Given the description of an element on the screen output the (x, y) to click on. 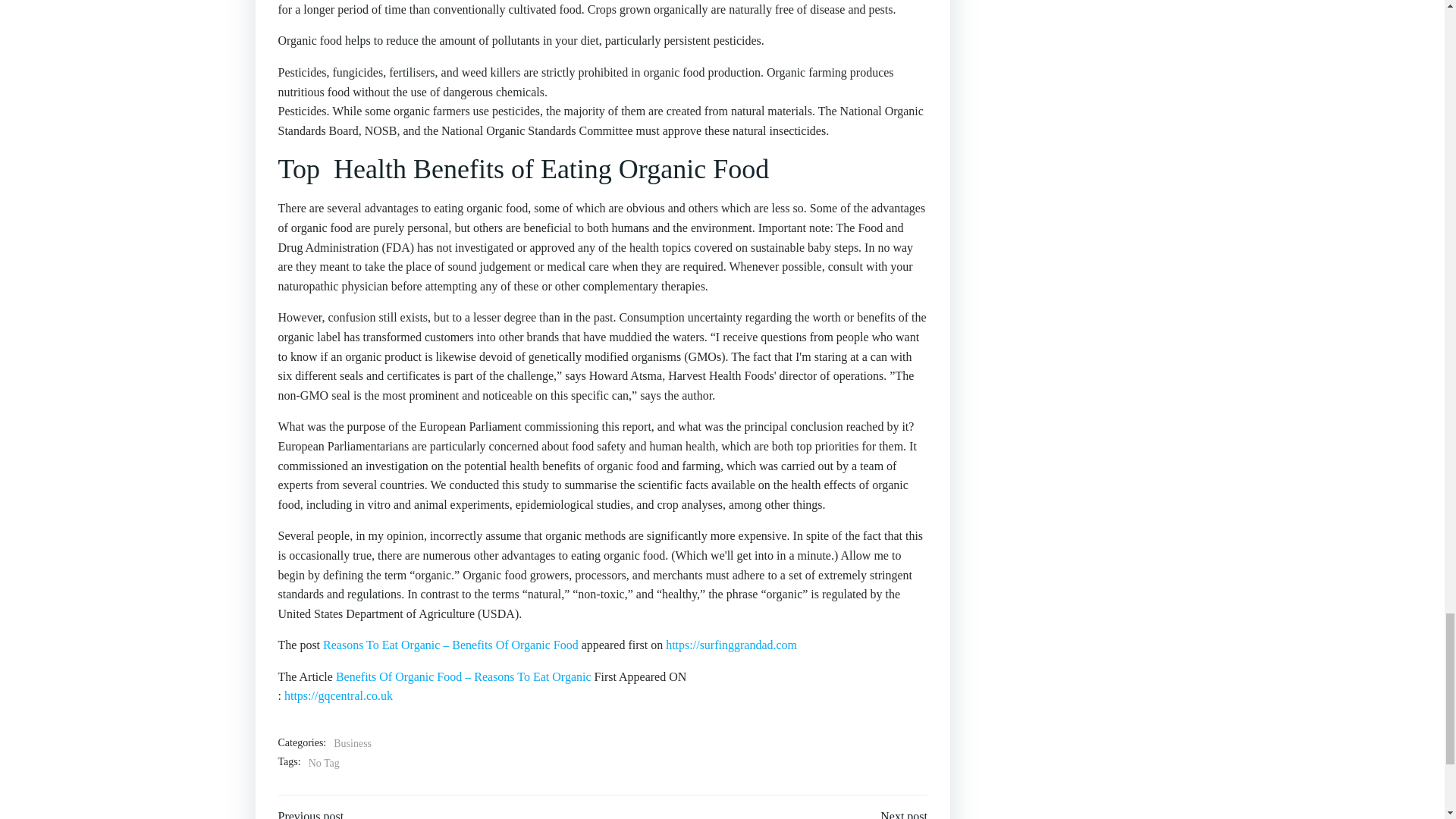
Previous post (310, 813)
Next post (903, 813)
Business (352, 743)
